Given the description of an element on the screen output the (x, y) to click on. 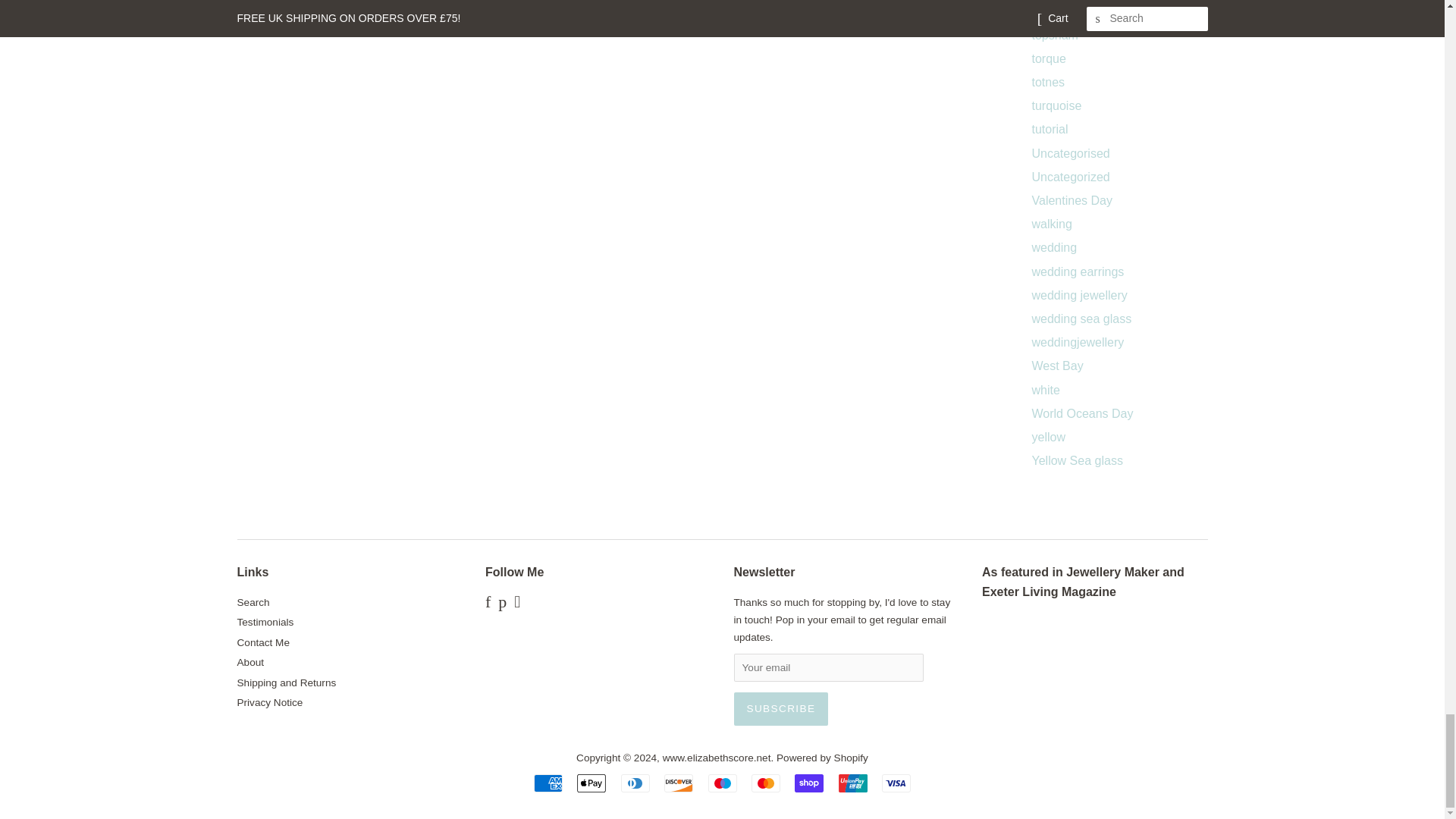
American Express (548, 782)
Maestro (721, 782)
Apple Pay (590, 782)
Union Pay (852, 782)
Subscribe (780, 708)
Discover (678, 782)
Visa (896, 782)
Mastercard (765, 782)
Shop Pay (809, 782)
Diners Club (635, 782)
